Given the description of an element on the screen output the (x, y) to click on. 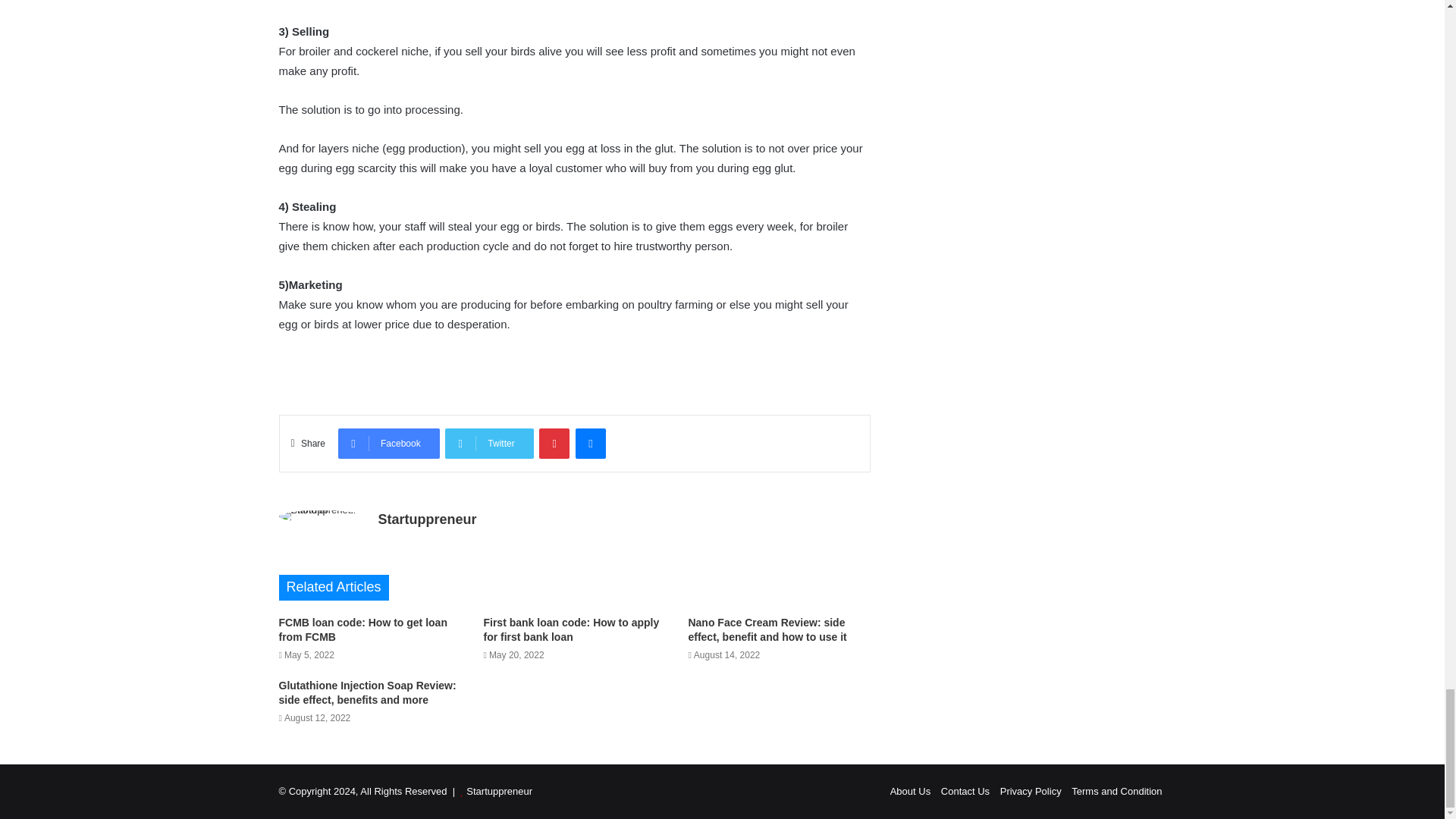
Pinterest (553, 443)
Messenger (590, 443)
Twitter (488, 443)
Facebook (388, 443)
Messenger (590, 443)
Startuppreneur (426, 519)
First bank loan code: How to apply for first bank loan (571, 629)
Pinterest (553, 443)
